Given the description of an element on the screen output the (x, y) to click on. 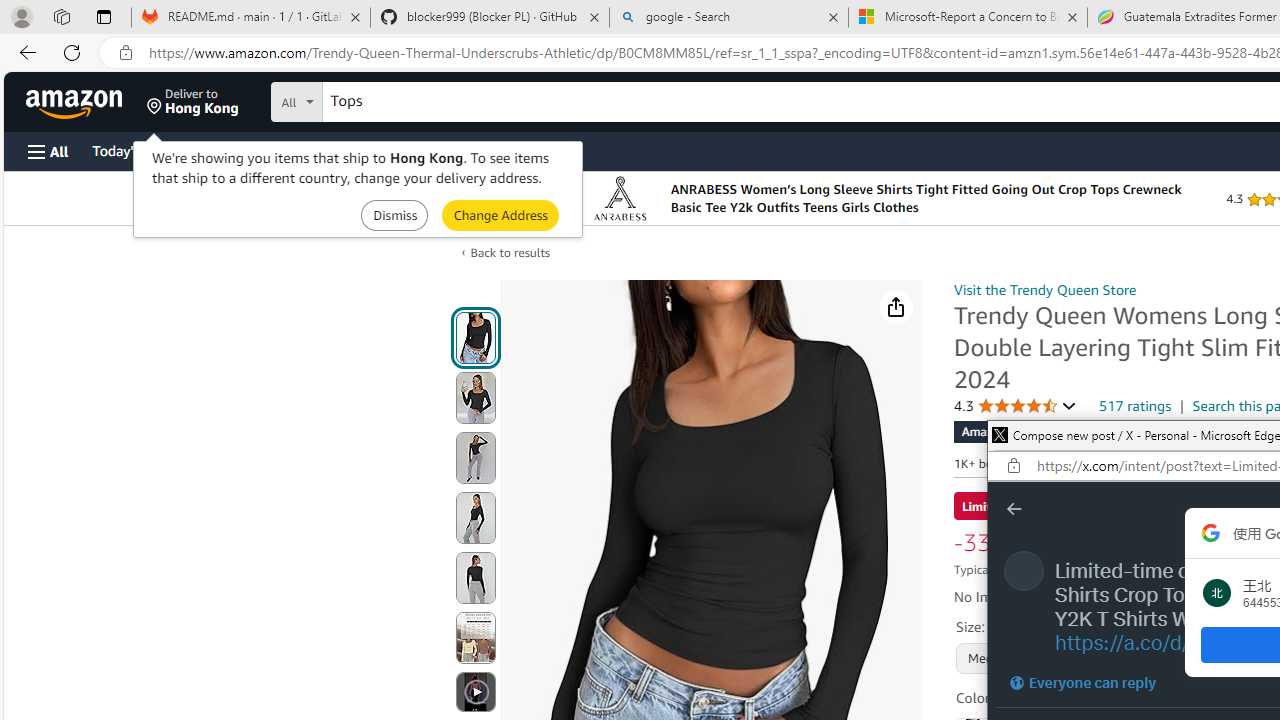
Customer Service (256, 150)
Share (896, 307)
Logo (619, 198)
Everyone can reply (1081, 682)
Registry (360, 150)
Today's Deals (134, 150)
4.3 4.3 out of 5 stars (1015, 406)
Visit the Trendy Queen Store (1044, 289)
Gift Cards (442, 150)
Back to results (509, 251)
Search in (371, 99)
Sell (509, 150)
Skip to main content (86, 100)
